Given the description of an element on the screen output the (x, y) to click on. 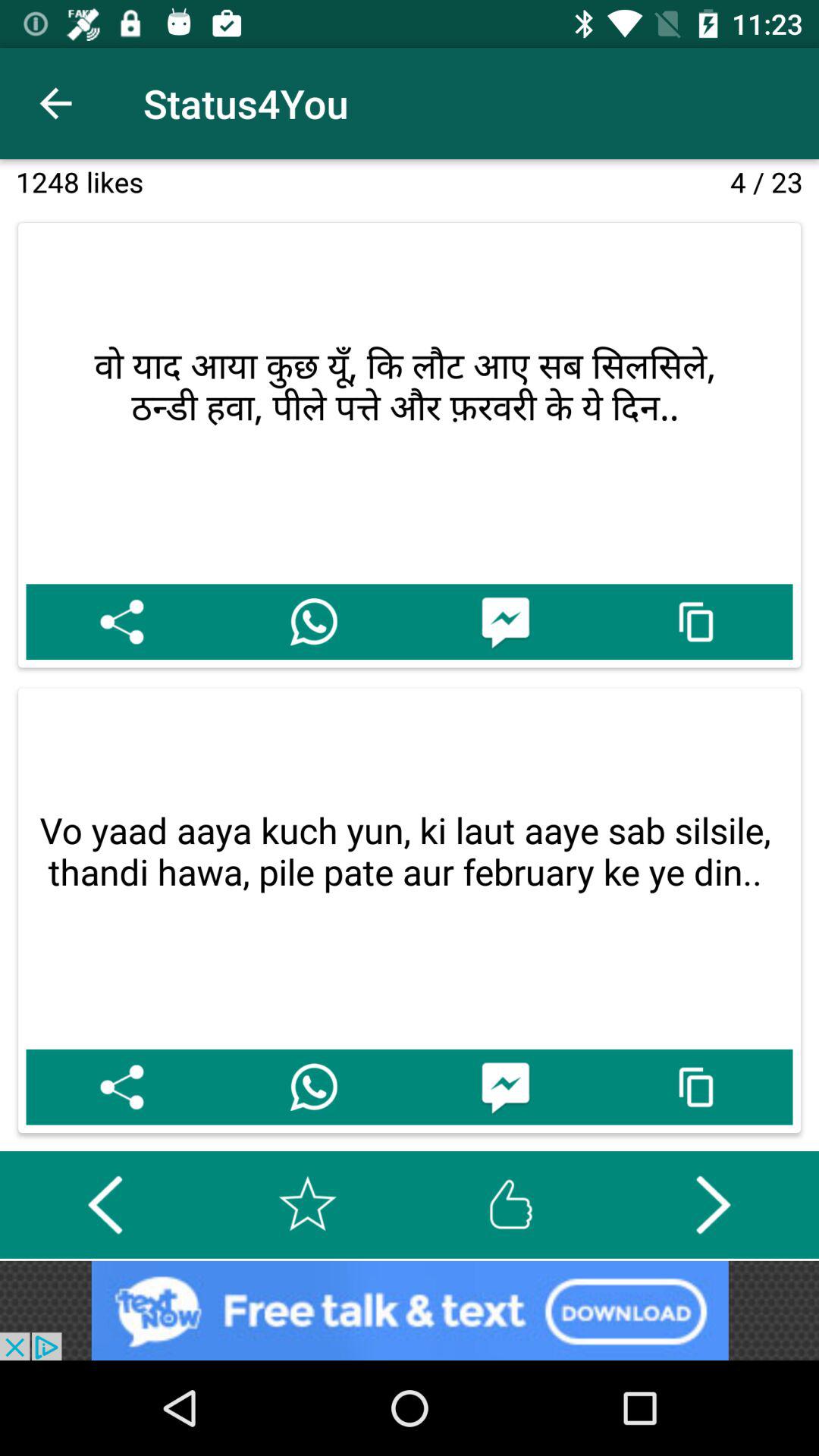
copy text (696, 621)
